Given the description of an element on the screen output the (x, y) to click on. 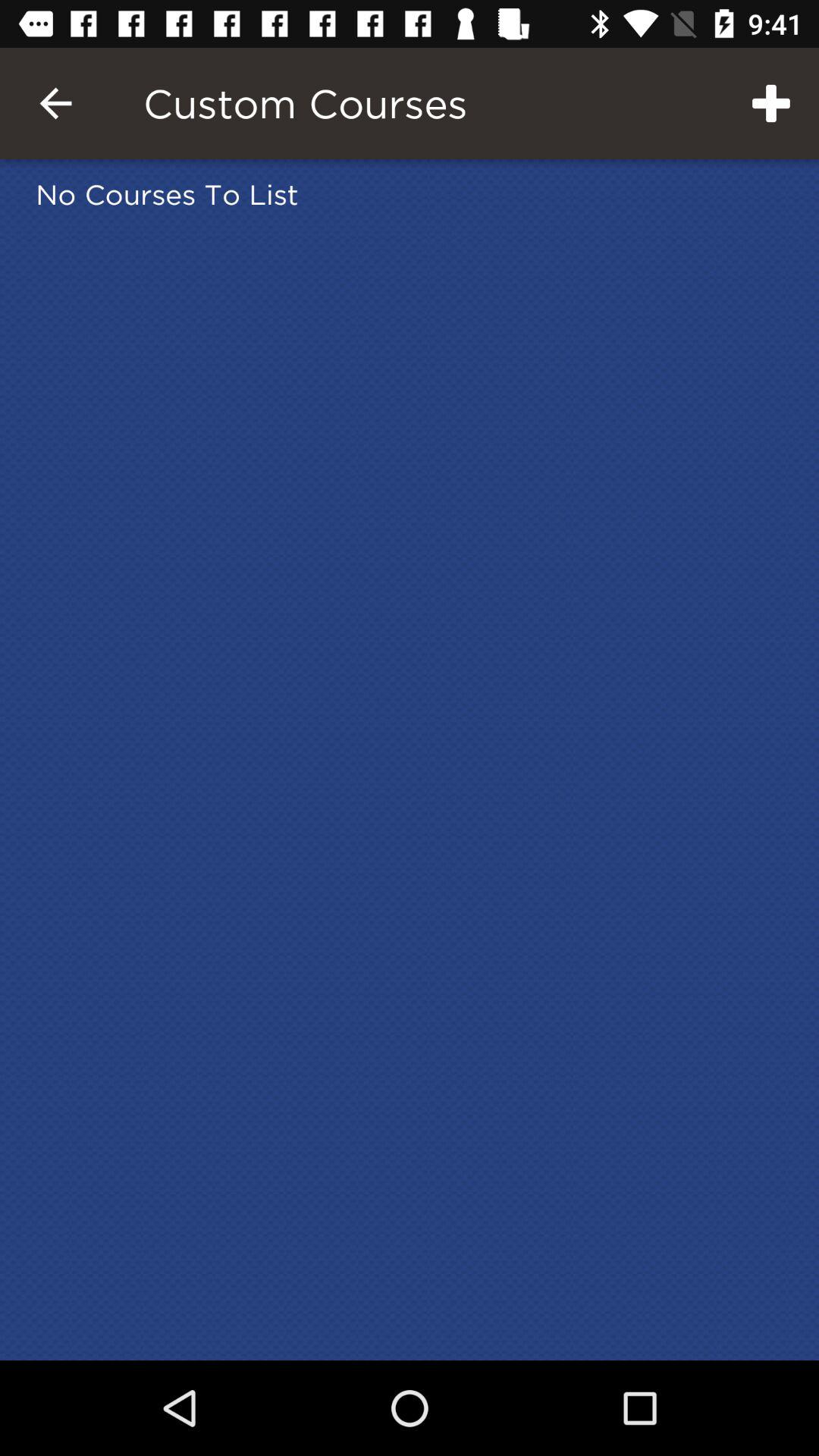
click item above no courses to (55, 103)
